Given the description of an element on the screen output the (x, y) to click on. 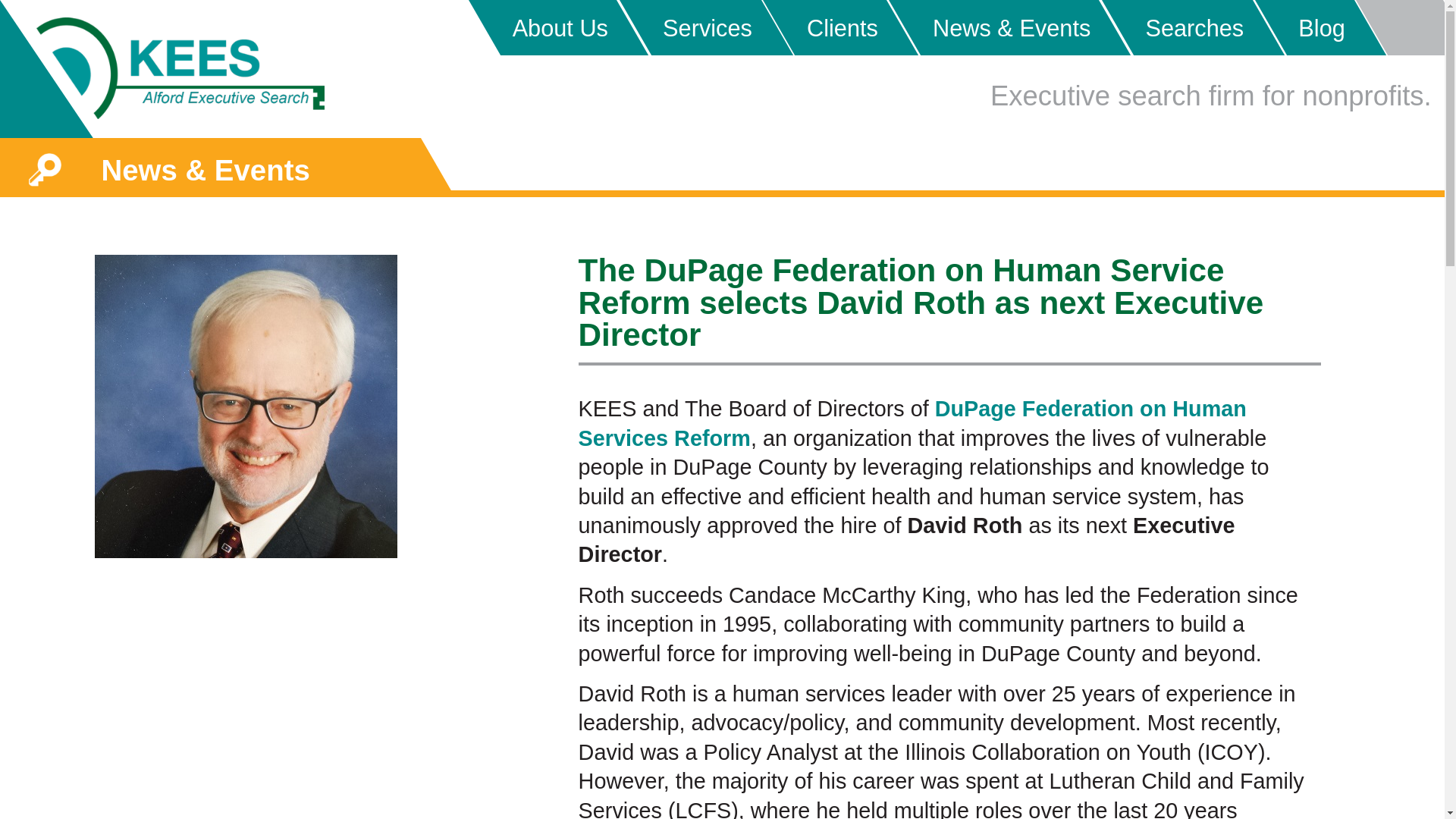
About Us (541, 27)
Clients (824, 27)
Placeholder (1398, 27)
Searches (1177, 27)
Services (689, 27)
Blog (1304, 27)
